Given the description of an element on the screen output the (x, y) to click on. 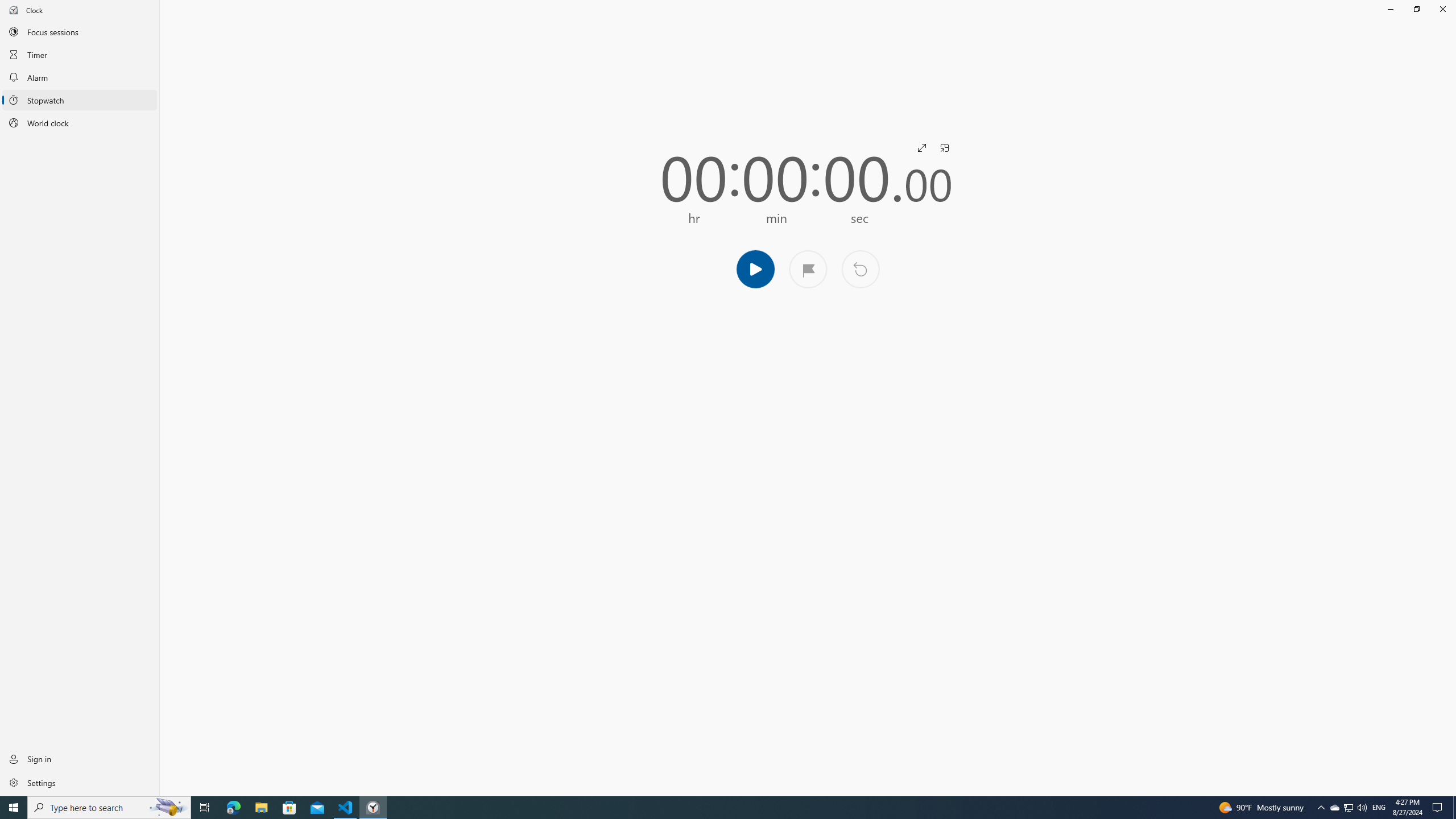
Running applications (706, 807)
Action Center, No new notifications (1439, 807)
Clock - 1 running window (373, 807)
User Promoted Notification Area (1347, 807)
Tray Input Indicator - English (United States) (1378, 807)
File Explorer (261, 807)
Alarm (79, 77)
Start (755, 268)
Minimize Clock (1390, 9)
Settings (79, 782)
Timer (79, 54)
Focus sessions (79, 31)
Restore Clock (1416, 9)
Show desktop (1454, 807)
